Given the description of an element on the screen output the (x, y) to click on. 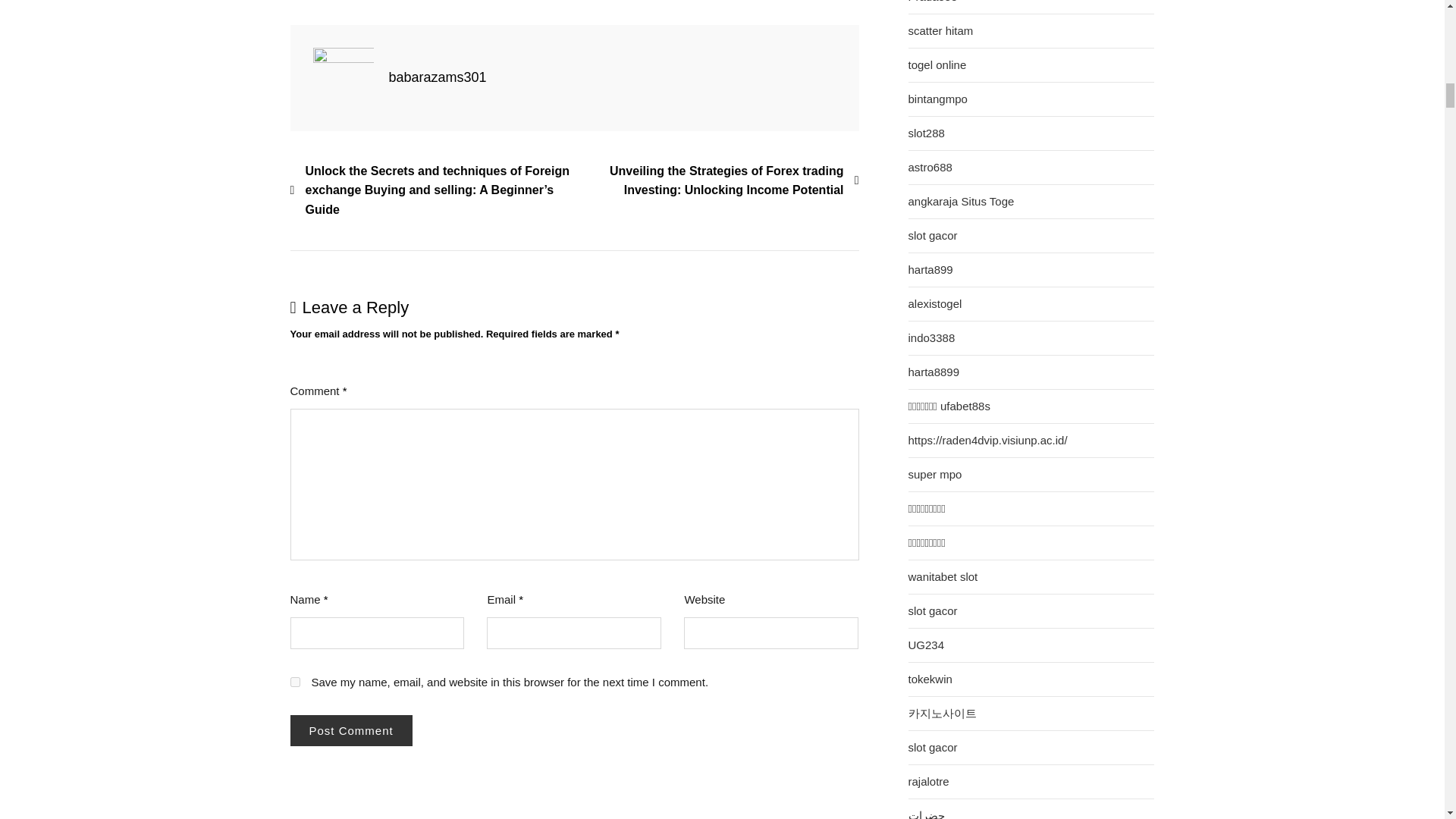
babarazams301 (437, 77)
Post Comment (350, 730)
yes (294, 682)
Post Comment (350, 730)
